Given the description of an element on the screen output the (x, y) to click on. 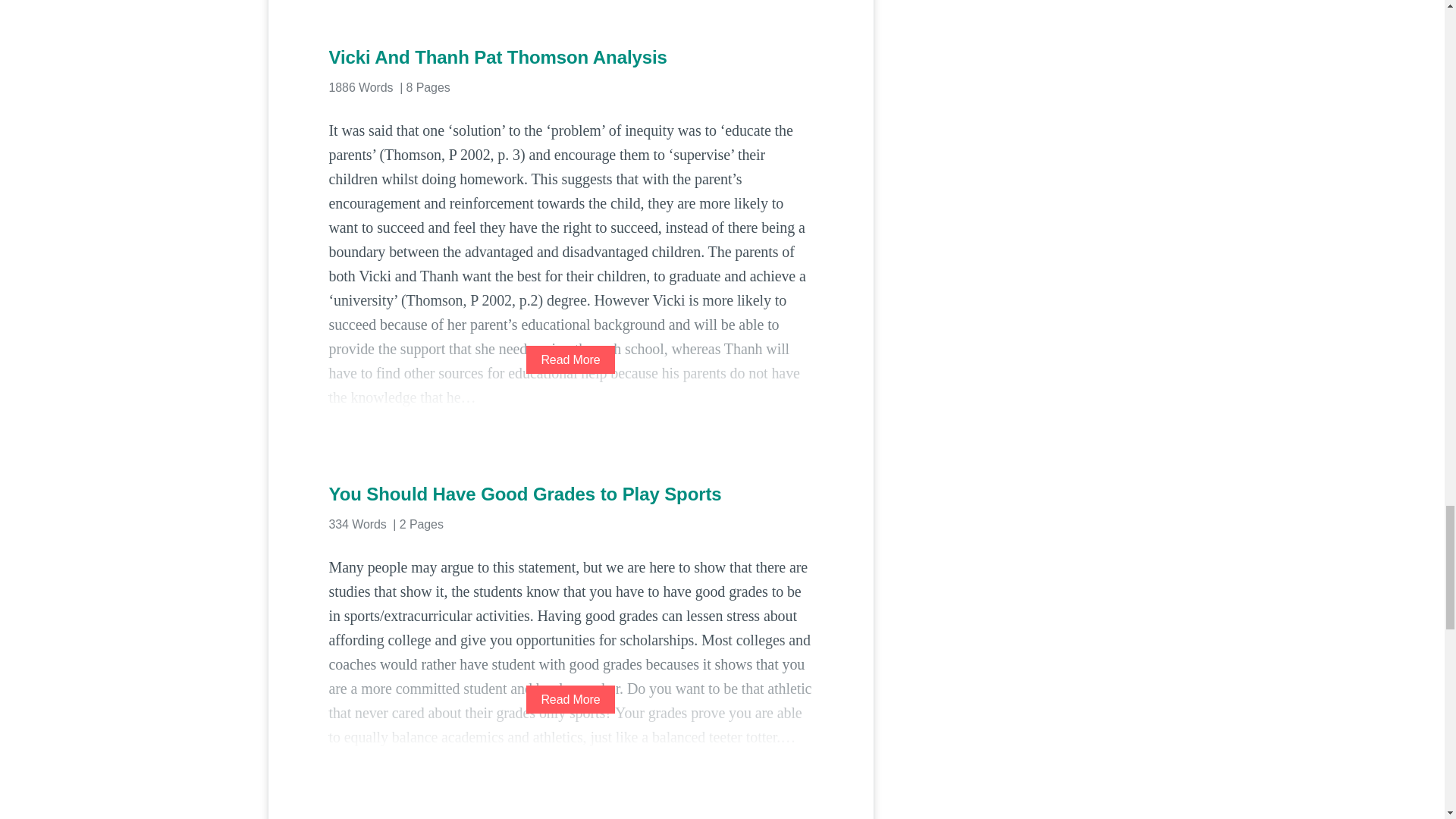
Read More (569, 699)
Vicki And Thanh Pat Thomson Analysis (570, 57)
Read More (569, 359)
You Should Have Good Grades to Play Sports (570, 494)
